Given the description of an element on the screen output the (x, y) to click on. 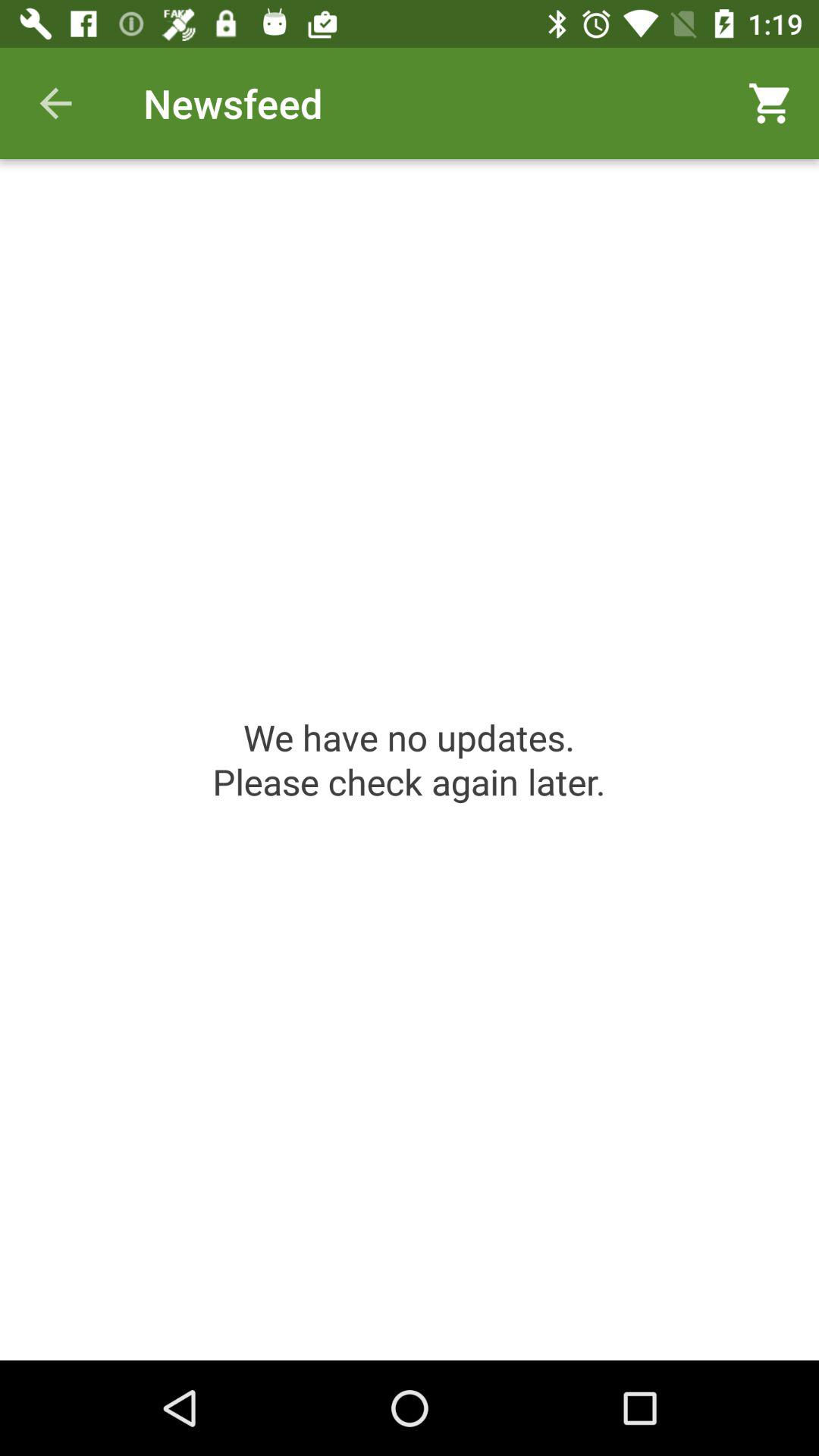
turn on icon next to the newsfeed icon (55, 103)
